Given the description of an element on the screen output the (x, y) to click on. 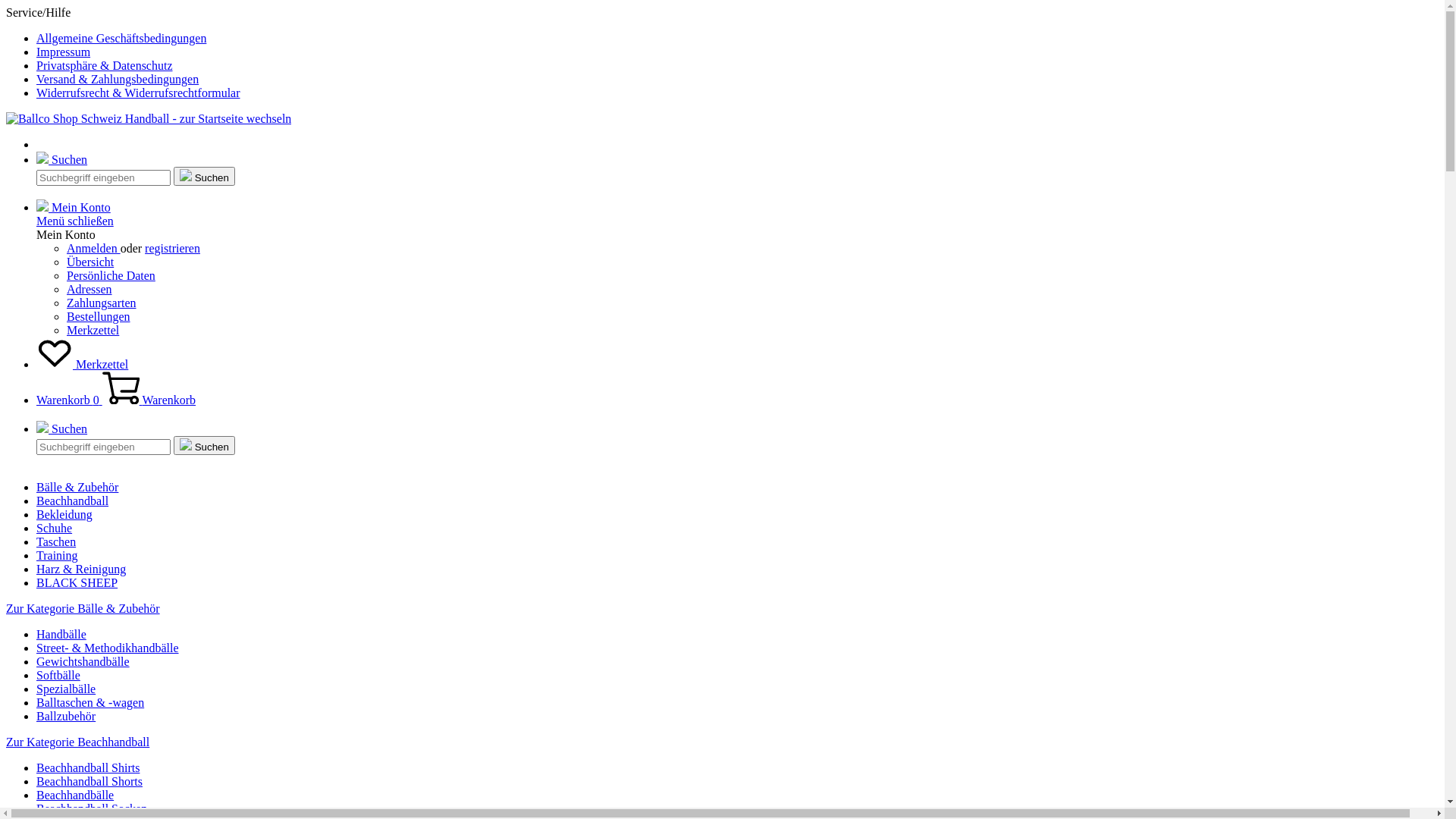
Zahlungsarten Element type: text (101, 302)
BLACK SHEEP Element type: text (76, 582)
Warenkorb 0 Warenkorb Element type: text (115, 399)
Suchen Element type: text (204, 445)
Merkzettel Element type: text (92, 329)
Merkzettel Element type: text (82, 363)
Ballco Shop Schweiz Handball - zur Startseite wechseln Element type: hover (148, 118)
Impressum Element type: text (63, 51)
Suchen Element type: text (61, 159)
Bestellungen Element type: text (98, 316)
Taschen Element type: text (55, 541)
Beachhandball Shirts Element type: text (87, 767)
registrieren Element type: text (172, 247)
Versand & Zahlungsbedingungen Element type: text (117, 78)
Harz & Reinigung Element type: text (80, 568)
Balltaschen & -wagen Element type: text (90, 702)
Beachhandball Socken Element type: text (91, 808)
Bekleidung Element type: text (64, 514)
Adressen Element type: text (89, 288)
Schuhe Element type: text (54, 527)
Beachhandball Shorts Element type: text (89, 781)
Mein Konto Element type: text (73, 206)
Widerrufsrecht & Widerrufsrechtformular Element type: text (138, 92)
Suchen Element type: text (204, 175)
Training Element type: text (57, 555)
Suchen Element type: text (61, 428)
Anmelden Element type: text (93, 247)
Zur Kategorie Beachhandball Element type: text (77, 741)
Beachhandball Element type: text (72, 500)
